Given the description of an element on the screen output the (x, y) to click on. 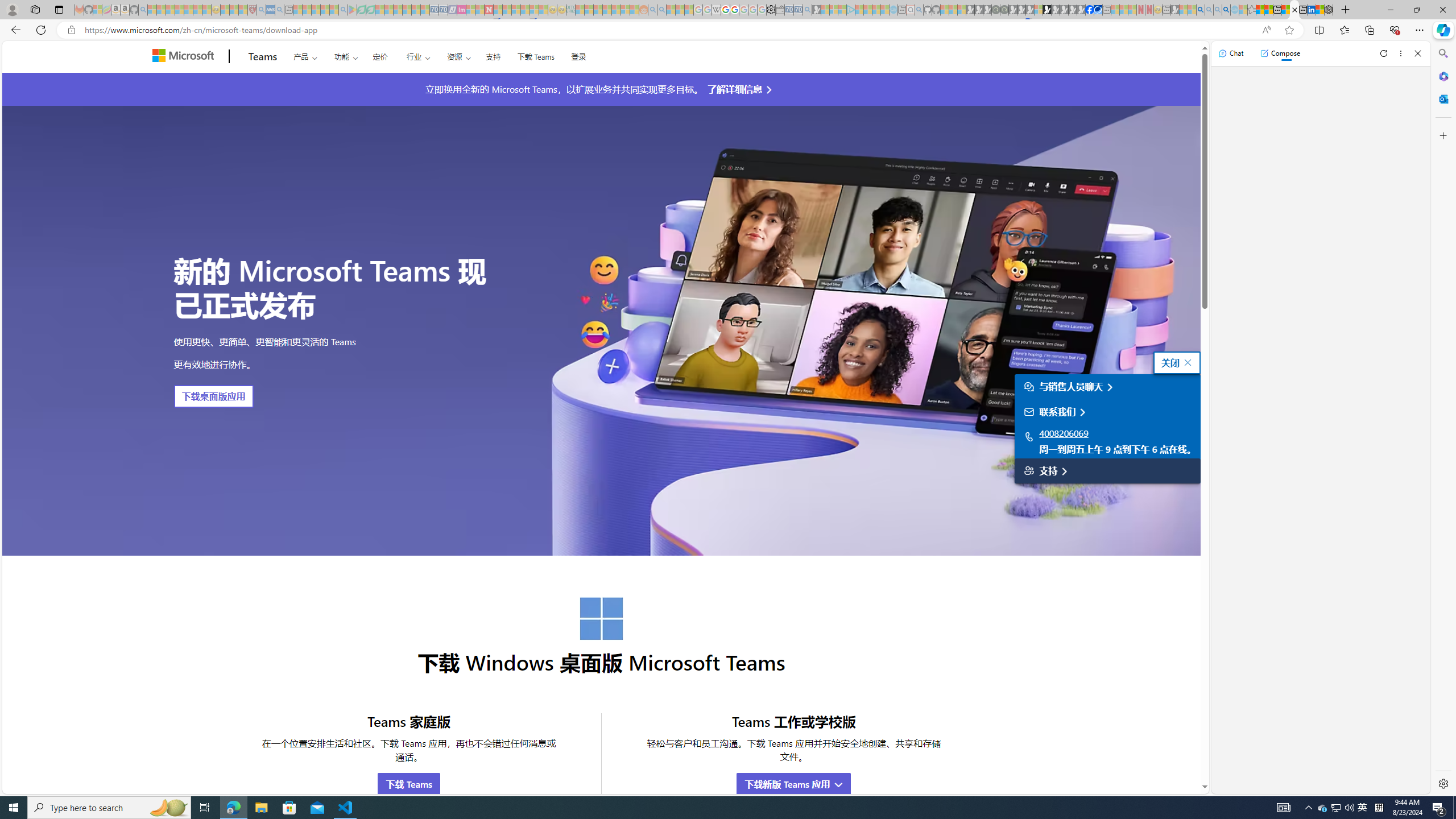
Favorites - Sleeping (1251, 9)
Privacy Help Center - Policies Help (725, 9)
